Given the description of an element on the screen output the (x, y) to click on. 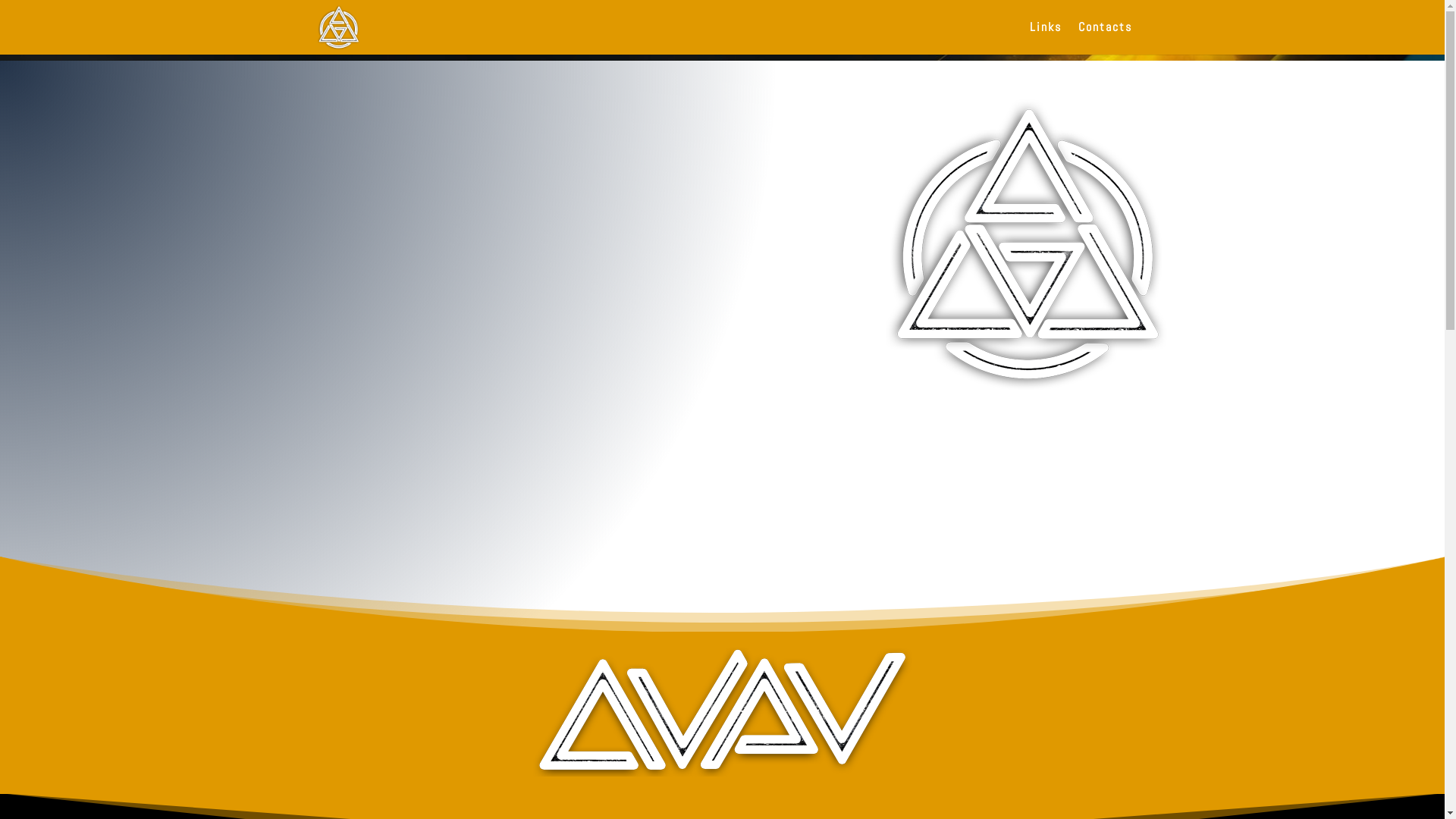
avpu Element type: hover (721, 711)
Links Element type: text (1045, 37)
simbolo400 Element type: hover (1026, 243)
Contacts Element type: text (1105, 37)
